Given the description of an element on the screen output the (x, y) to click on. 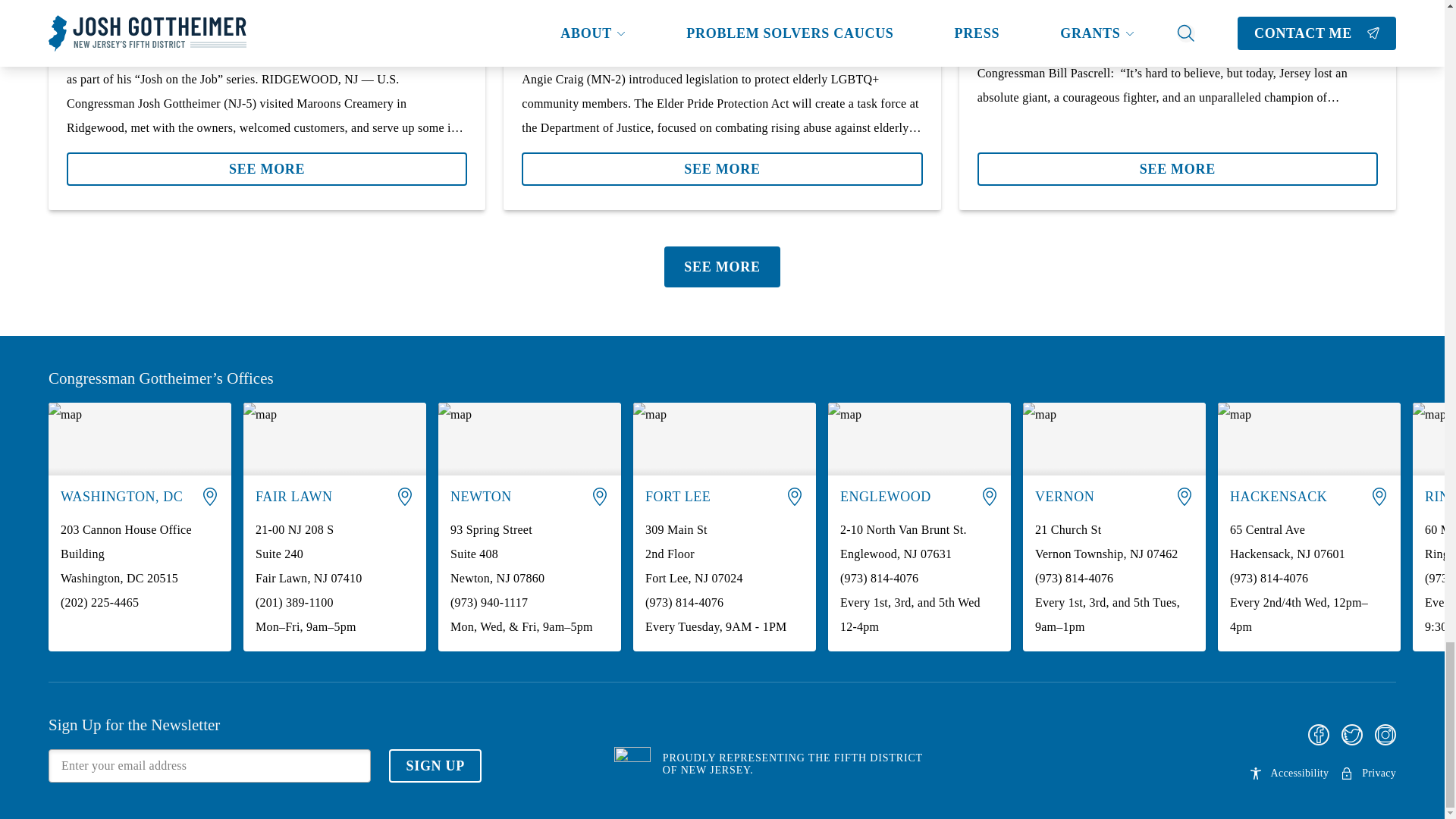
SEE MORE (721, 168)
SEE MORE (1176, 162)
SEE MORE (266, 168)
SEE MORE (720, 266)
SEE MORE (1176, 168)
SEE MORE (266, 162)
SEE MORE (721, 162)
